Given the description of an element on the screen output the (x, y) to click on. 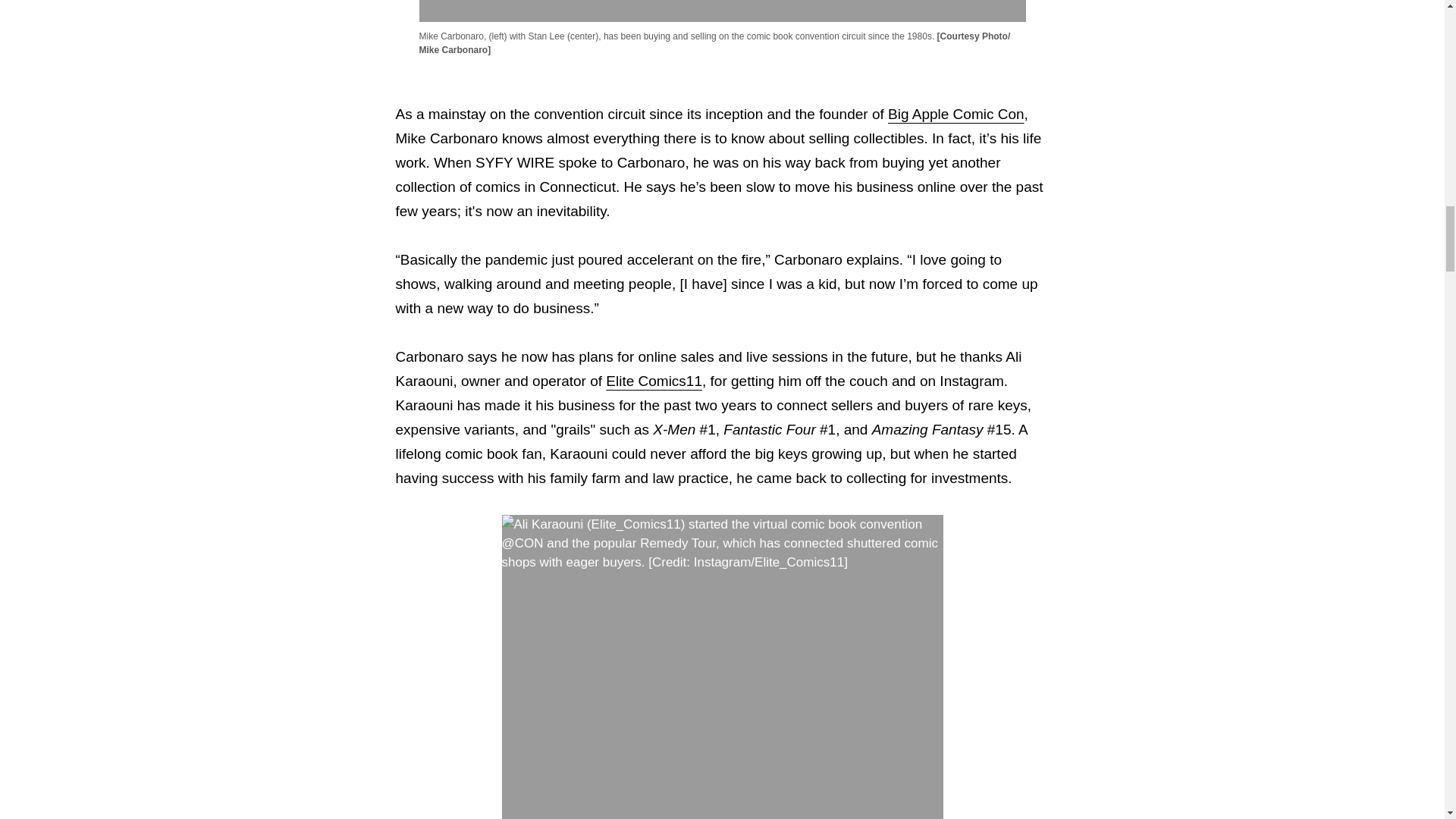
Big Apple Comic Con (956, 114)
Elite Comics11 (653, 381)
